Given the description of an element on the screen output the (x, y) to click on. 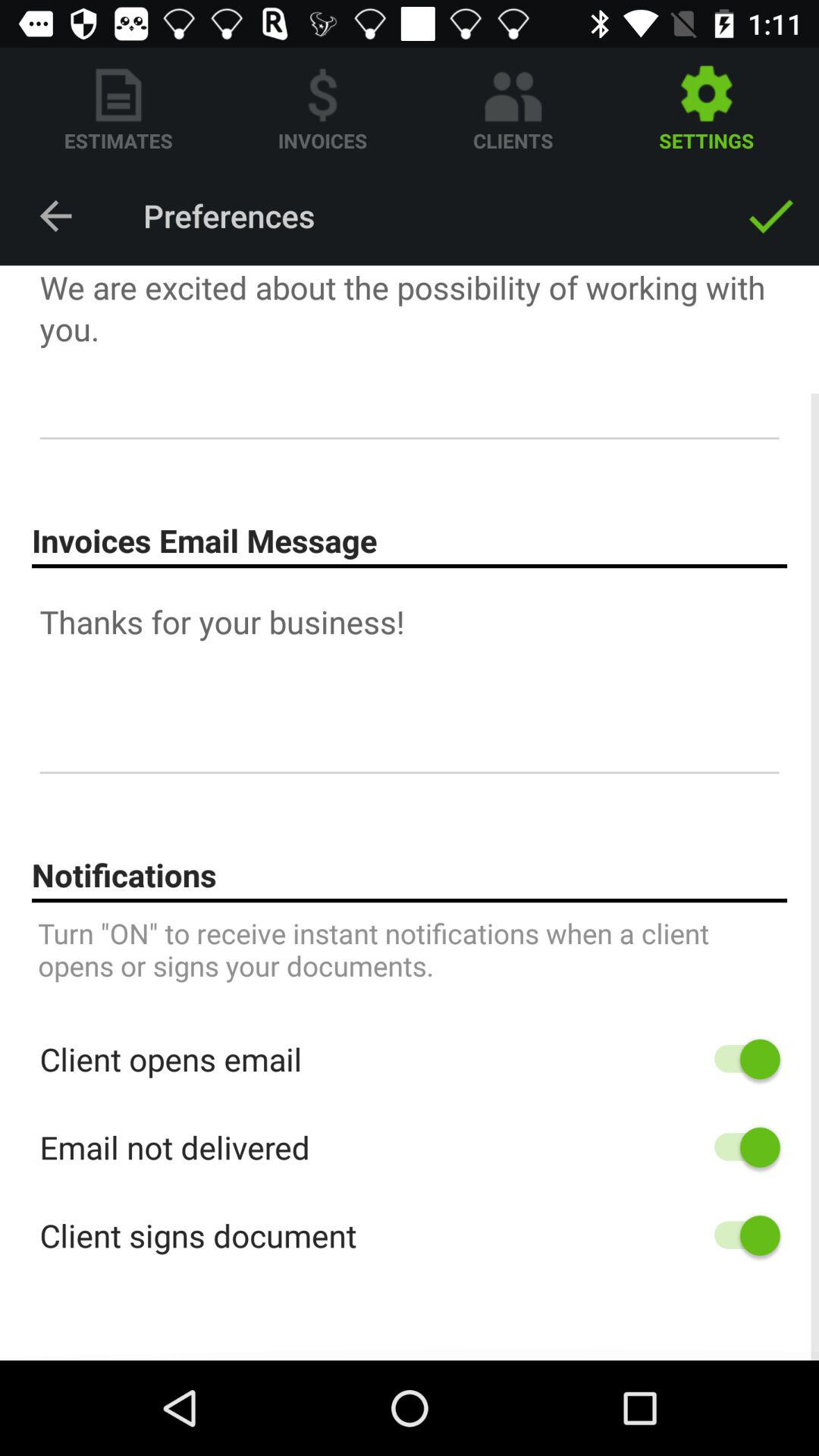
toggle client signs document notification (739, 1235)
